Given the description of an element on the screen output the (x, y) to click on. 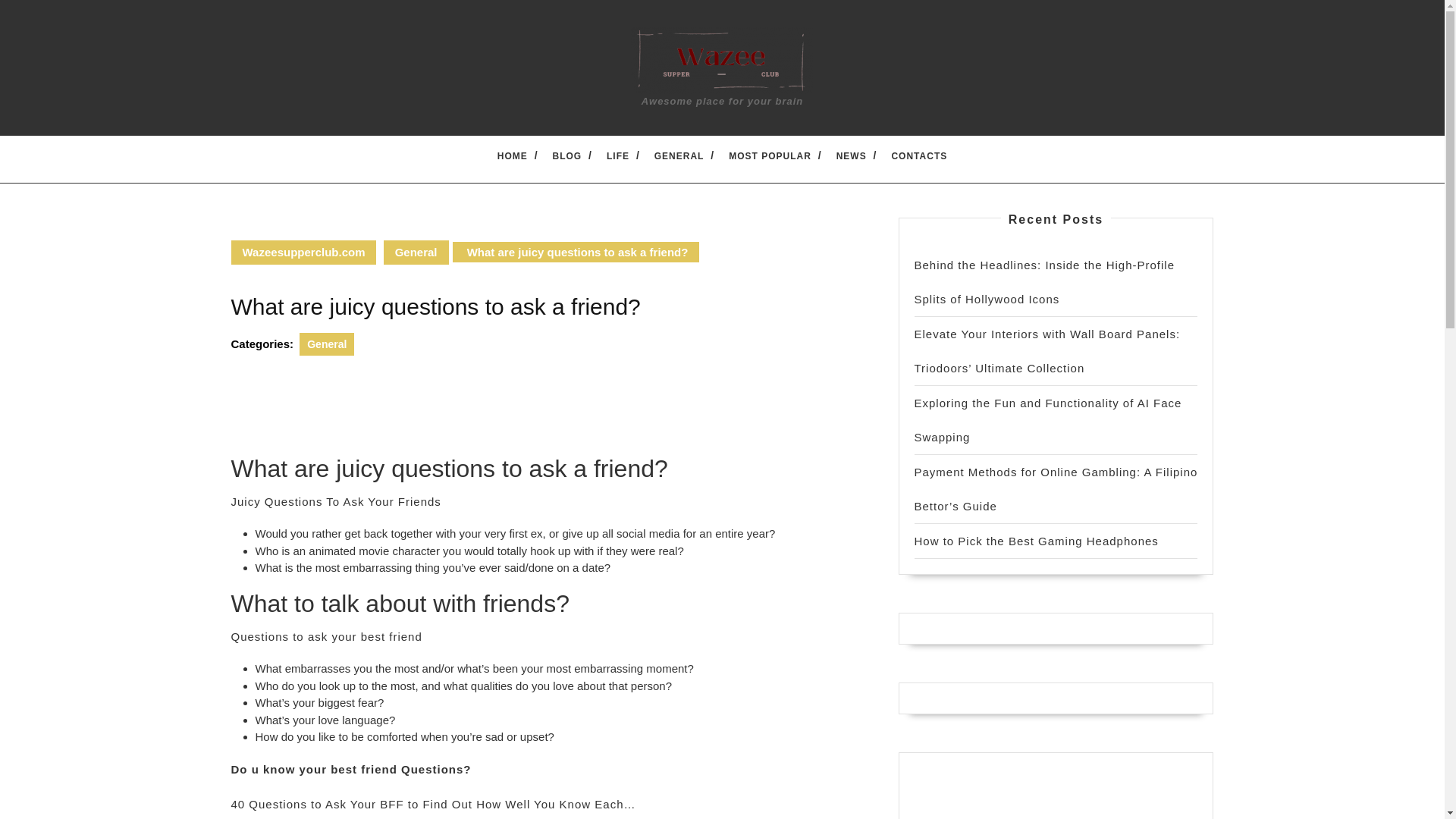
NEWS (851, 155)
GENERAL (678, 155)
How to Pick the Best Gaming Headphones (1036, 540)
CONTACTS (918, 155)
Wazeesupperclub.com (302, 251)
HOME (512, 155)
General (326, 343)
MOST POPULAR (770, 155)
General (416, 251)
Exploring the Fun and Functionality of AI Face Swapping (1048, 419)
BLOG (567, 155)
